Given the description of an element on the screen output the (x, y) to click on. 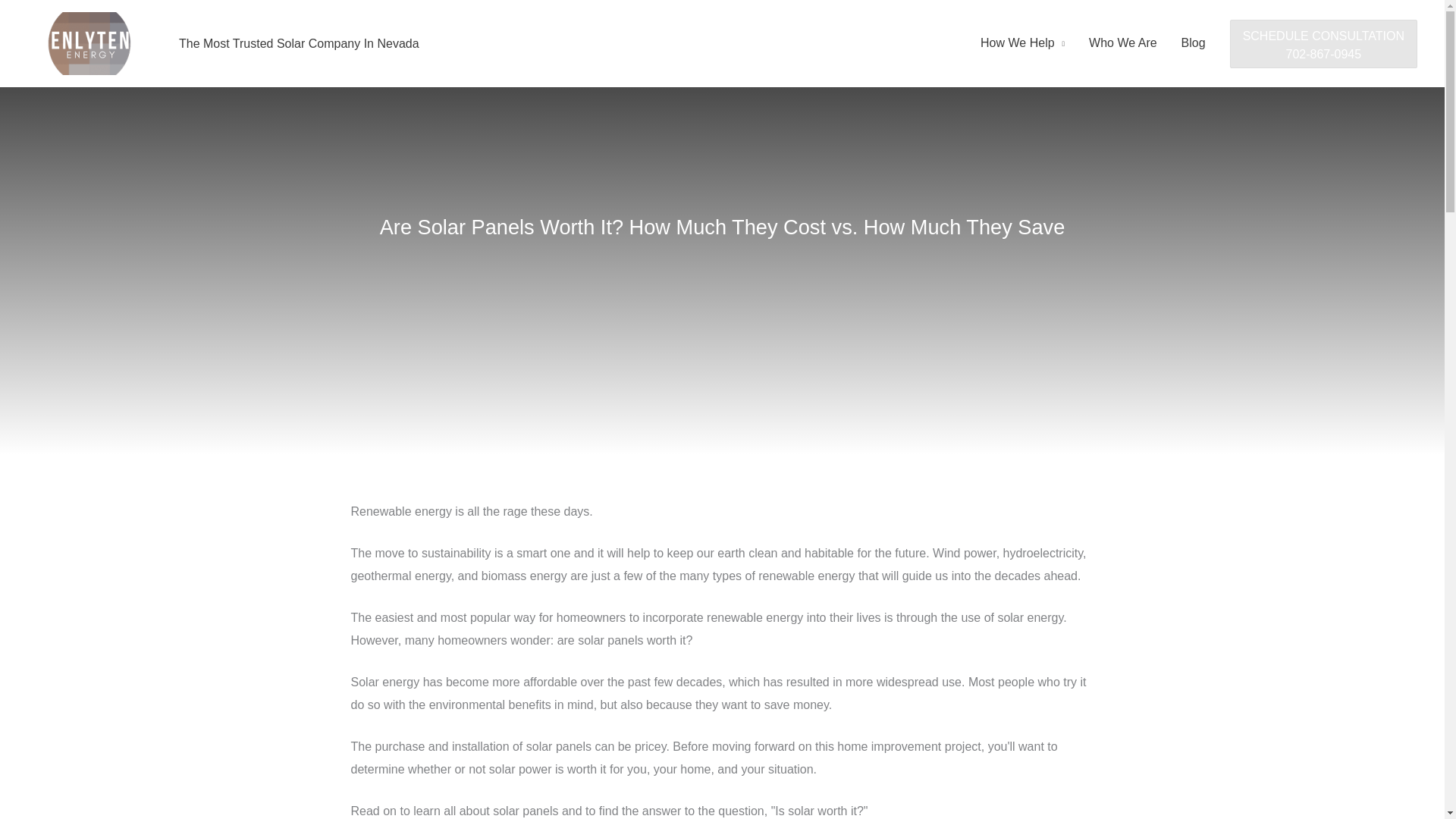
The Most Trusted Solar Company In Nevada (299, 42)
Who We Are (1323, 43)
How We Help (1123, 42)
Blog (1323, 42)
